Given the description of an element on the screen output the (x, y) to click on. 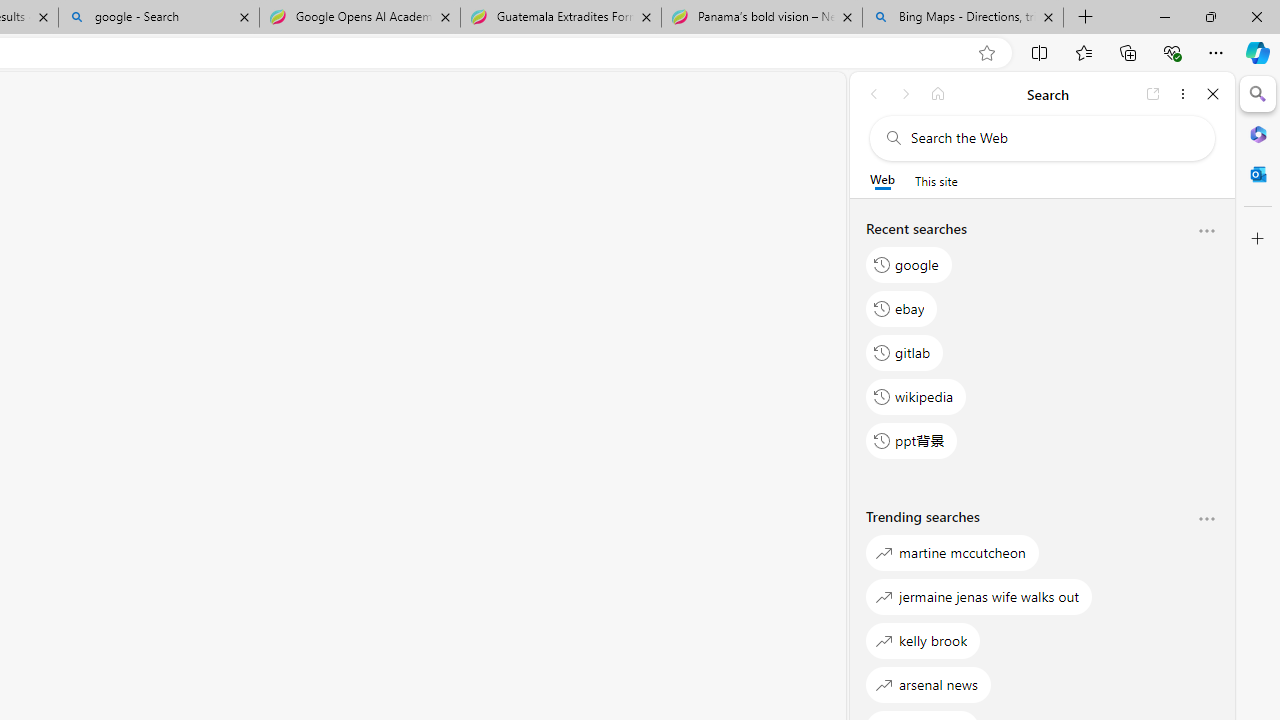
wikipedia (916, 396)
kelly brook (923, 640)
jermaine jenas wife walks out (979, 596)
